Given the description of an element on the screen output the (x, y) to click on. 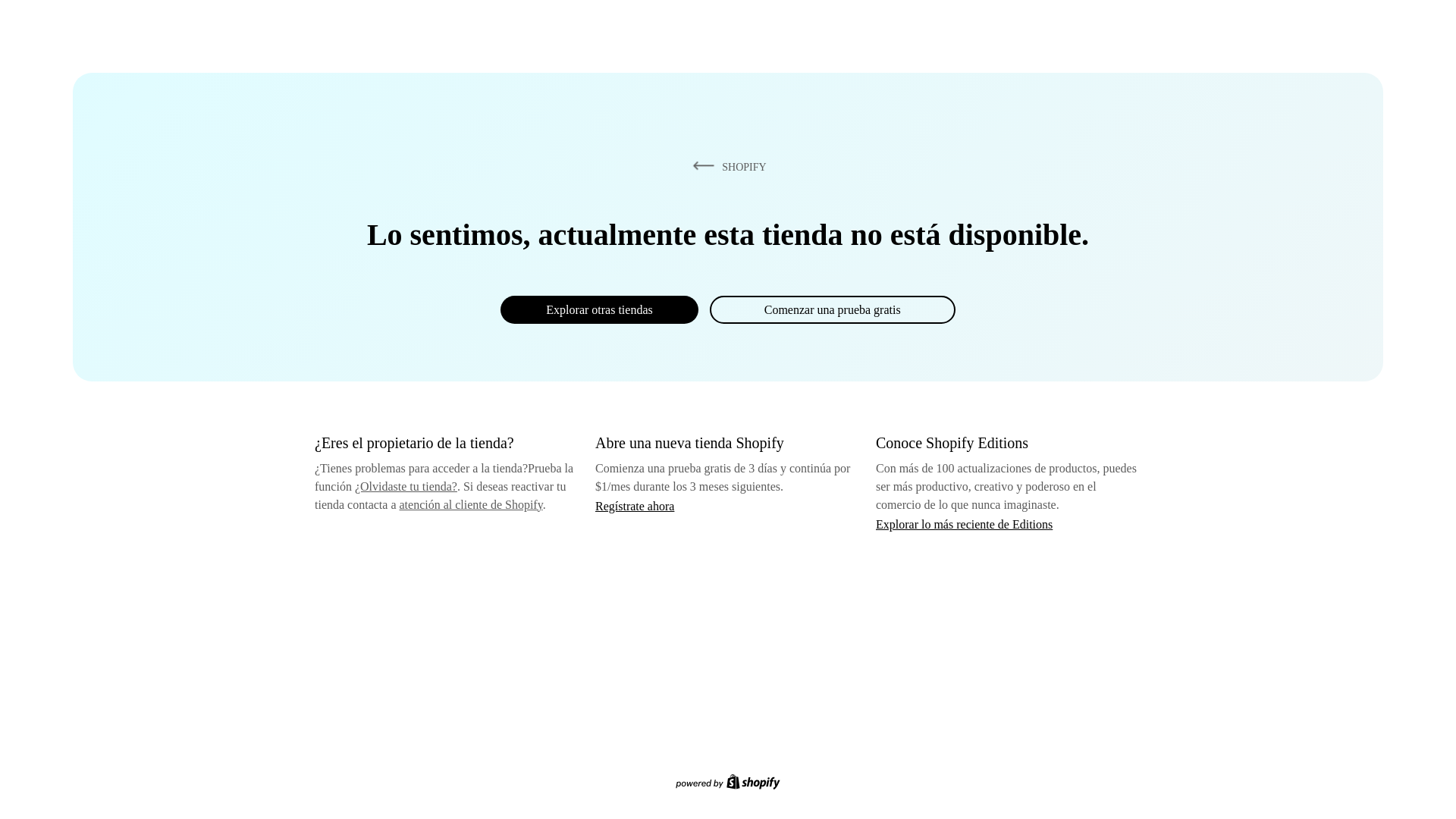
Comenzar una prueba gratis (832, 309)
Explorar otras tiendas (598, 309)
SHOPIFY (726, 166)
